Given the description of an element on the screen output the (x, y) to click on. 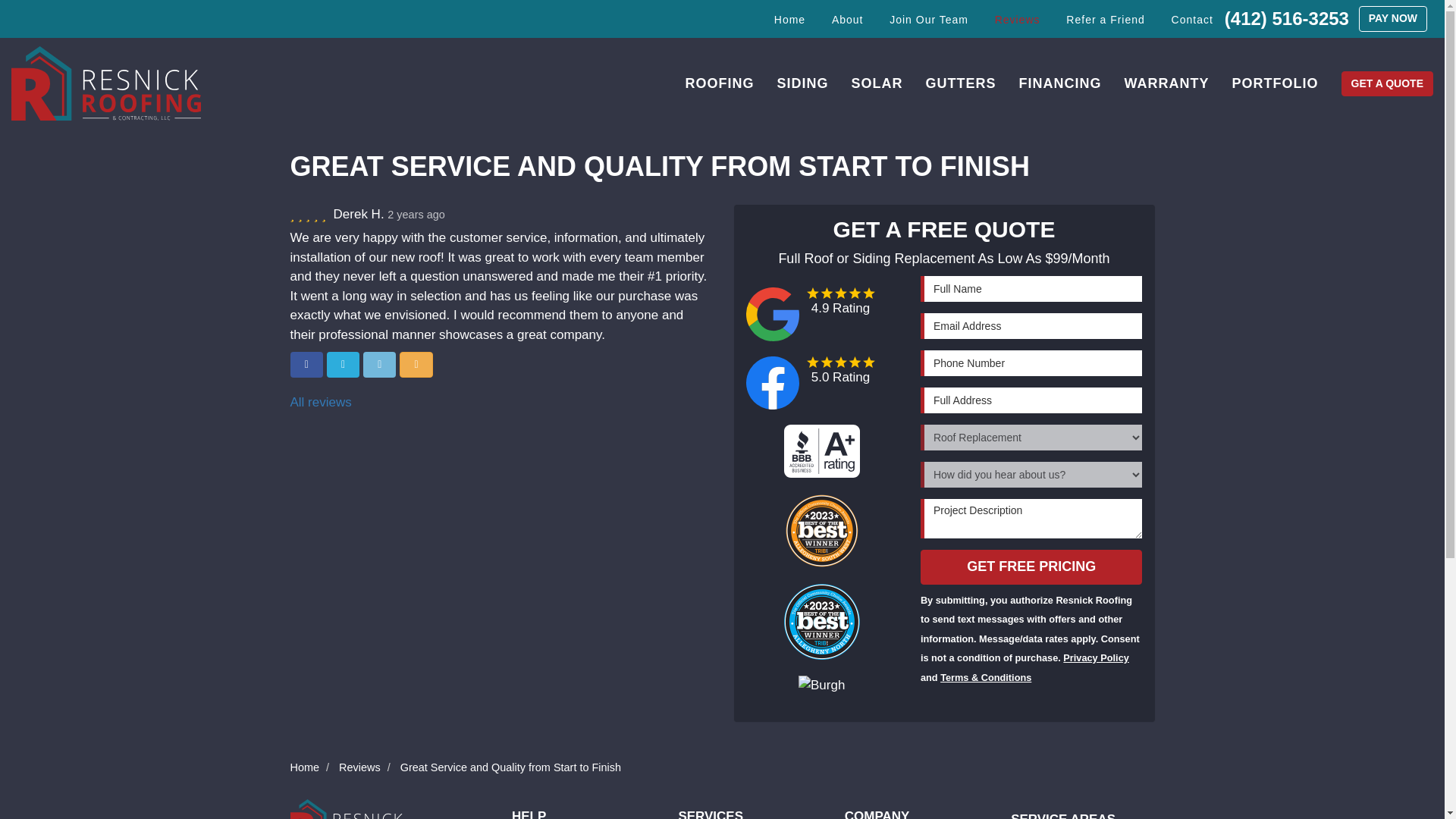
Contact (1192, 19)
About (848, 19)
Refer a Friend (1105, 19)
Reviews (1017, 19)
Home (789, 19)
GET A QUOTE (1386, 84)
5 Stars (309, 214)
Join Our Team (928, 19)
WARRANTY (1167, 82)
ROOFING (719, 82)
PORTFOLIO (1275, 82)
GUTTERS (960, 82)
GET A QUOTE (1386, 84)
PAY NOW (1392, 18)
FINANCING (1060, 82)
